Given the description of an element on the screen output the (x, y) to click on. 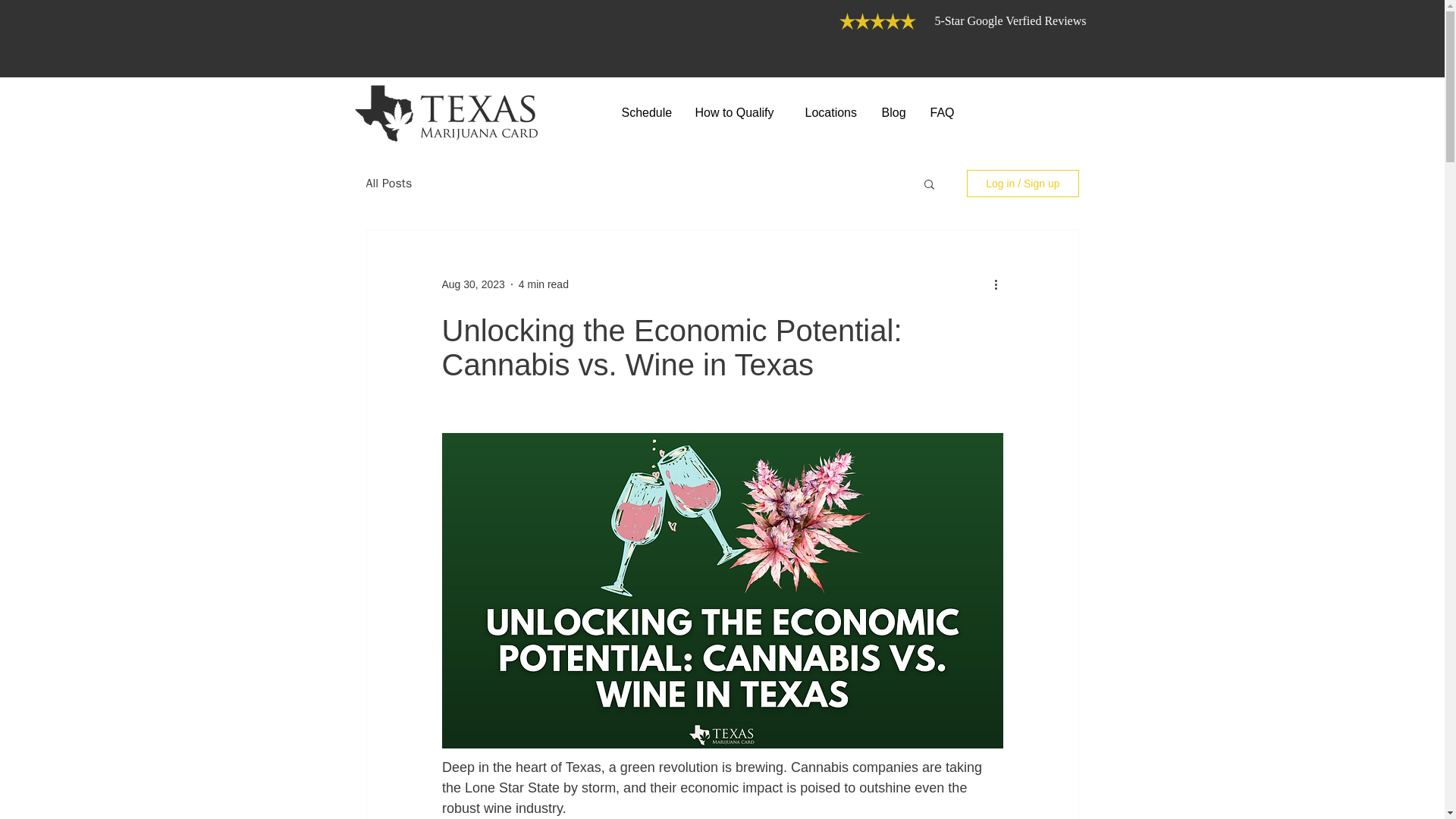
Aug 30, 2023 (472, 283)
Blog (894, 112)
4 min read (543, 283)
All Posts (388, 183)
Schedule (646, 112)
How to Qualify (738, 112)
FAQ (943, 112)
